Given the description of an element on the screen output the (x, y) to click on. 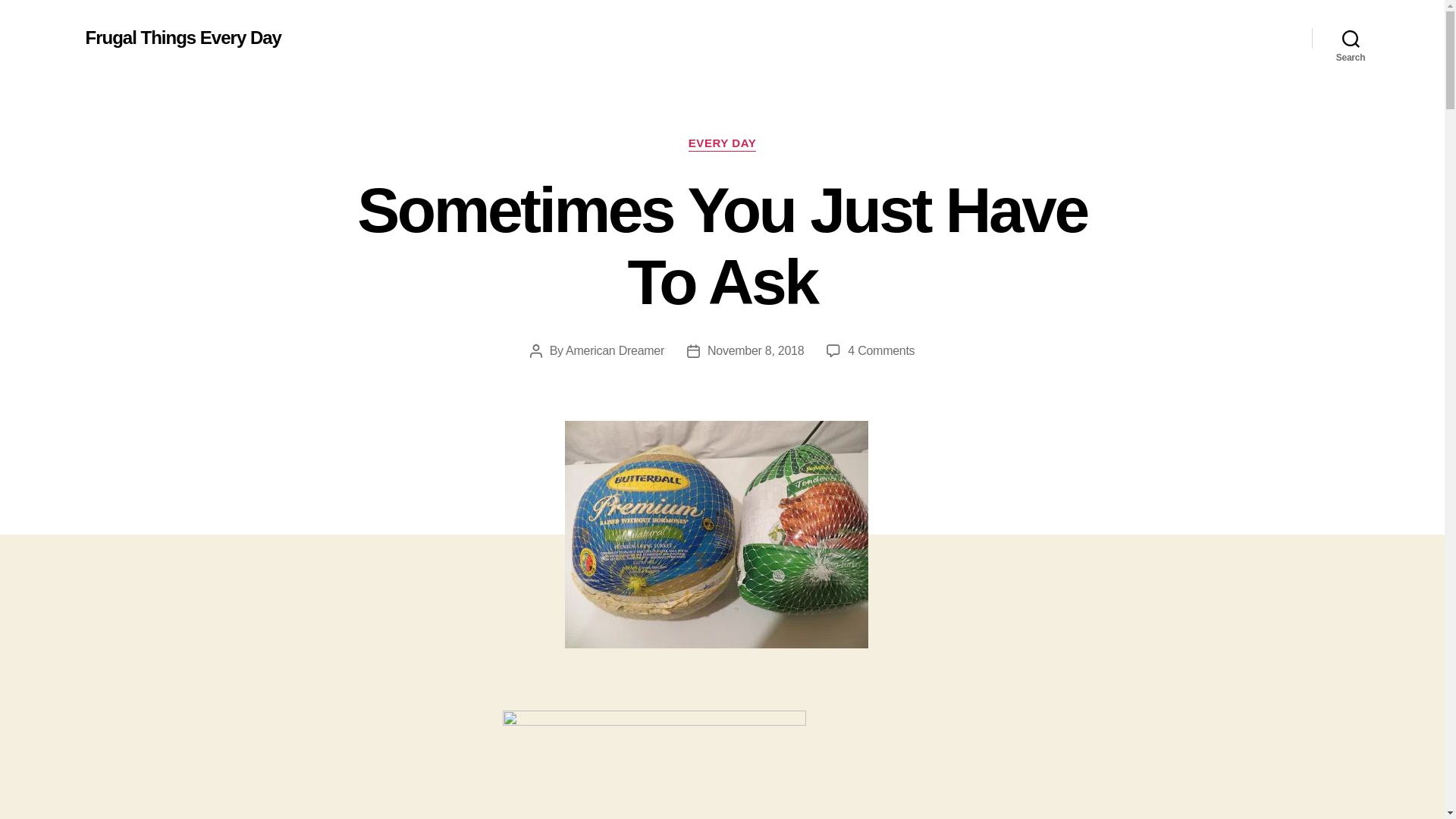
Frugal Things Every Day (182, 37)
American Dreamer (614, 350)
November 8, 2018 (880, 350)
Search (755, 350)
EVERY DAY (1350, 37)
